Given the description of an element on the screen output the (x, y) to click on. 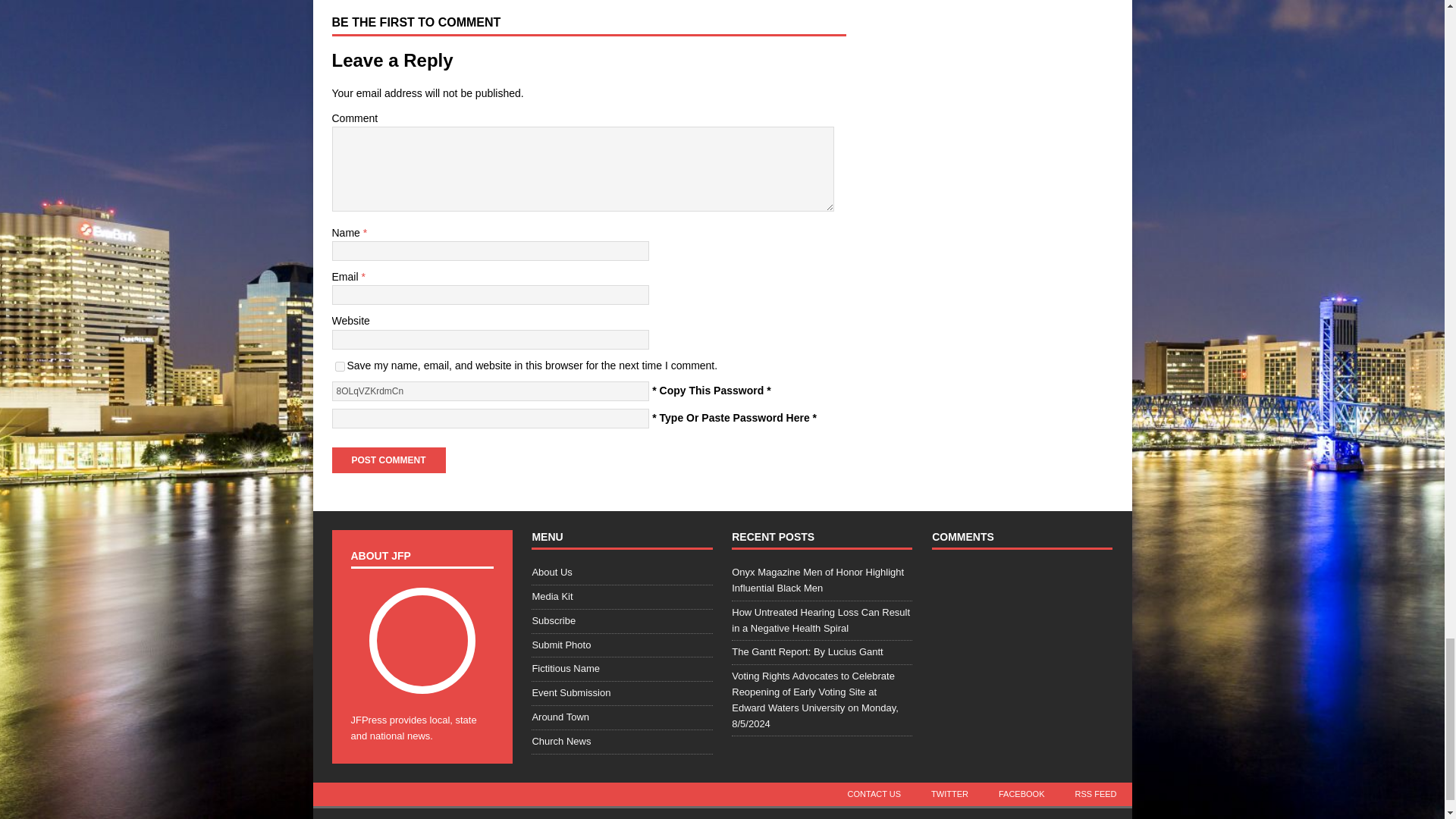
Post Comment (388, 460)
8OLqVZKrdmCn (490, 391)
yes (339, 366)
